Given the description of an element on the screen output the (x, y) to click on. 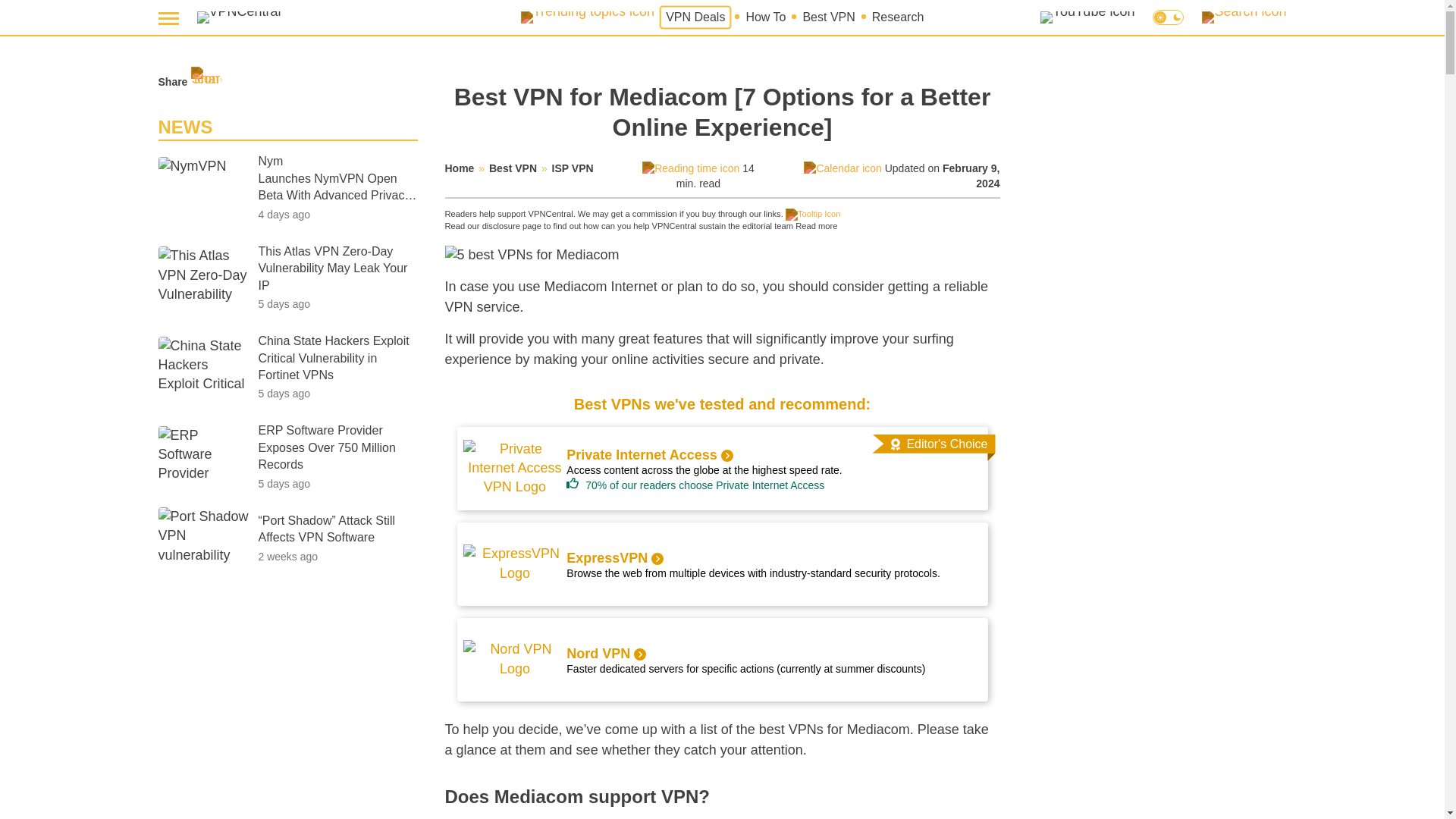
This Atlas VPN Zero-Day Vulnerability May Leak Your IP (336, 268)
ERP Software Provider Exposes Over 750 Million Records (336, 447)
Research (897, 17)
How To (765, 17)
VPN Deals (695, 17)
